Given the description of an element on the screen output the (x, y) to click on. 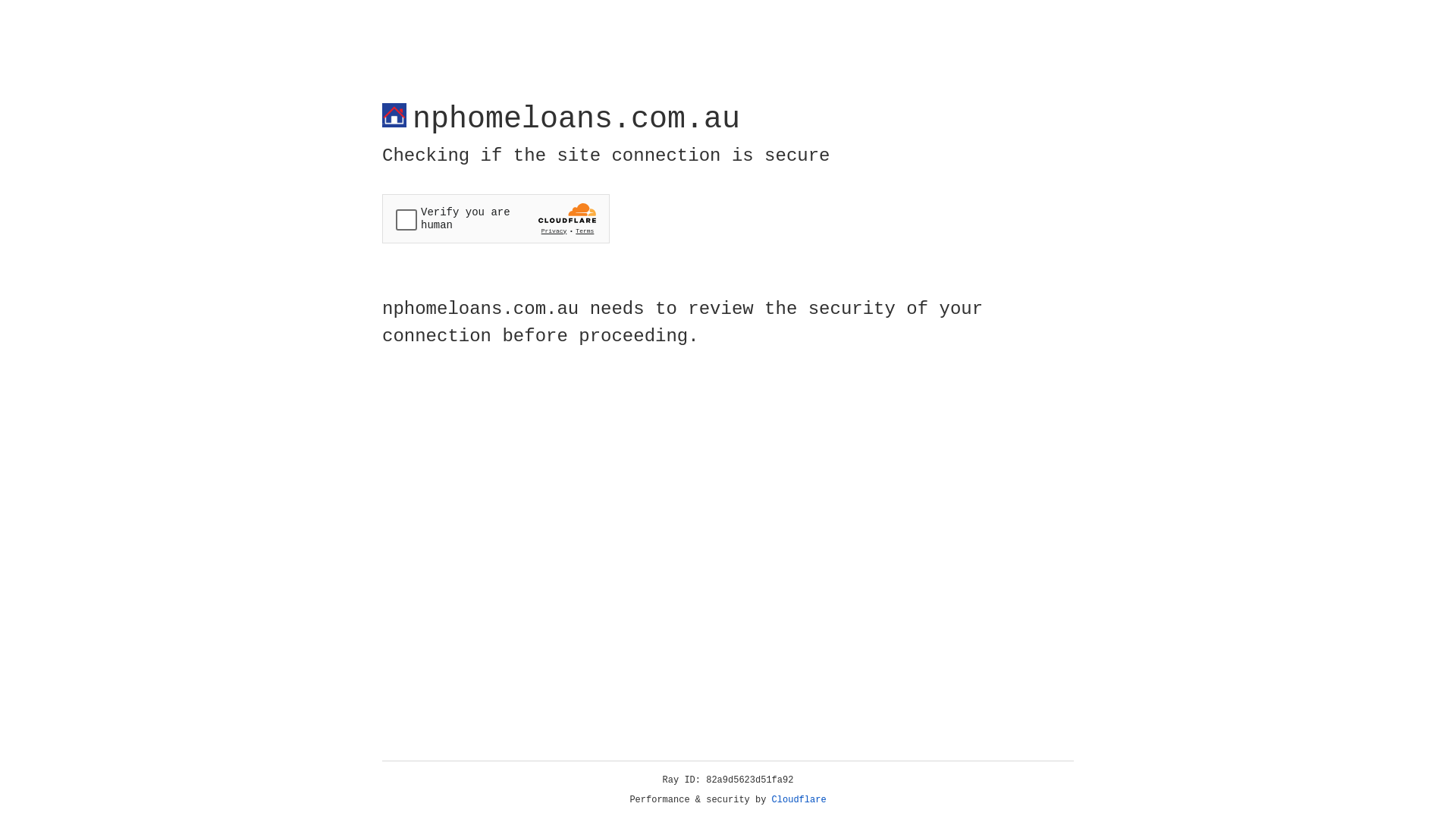
Cloudflare Element type: text (798, 799)
Widget containing a Cloudflare security challenge Element type: hover (495, 218)
